Given the description of an element on the screen output the (x, y) to click on. 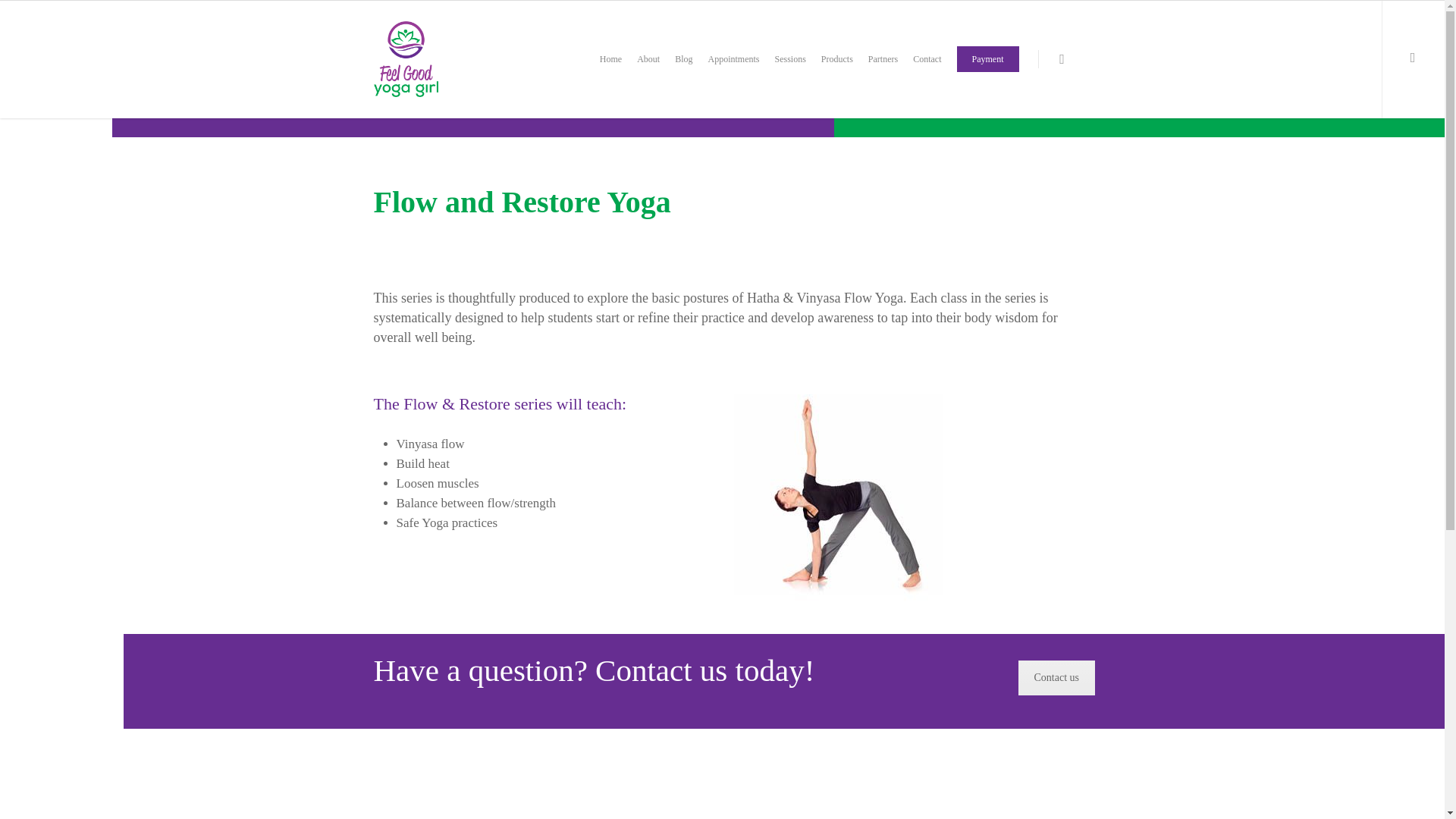
Contact us (1055, 677)
